Given the description of an element on the screen output the (x, y) to click on. 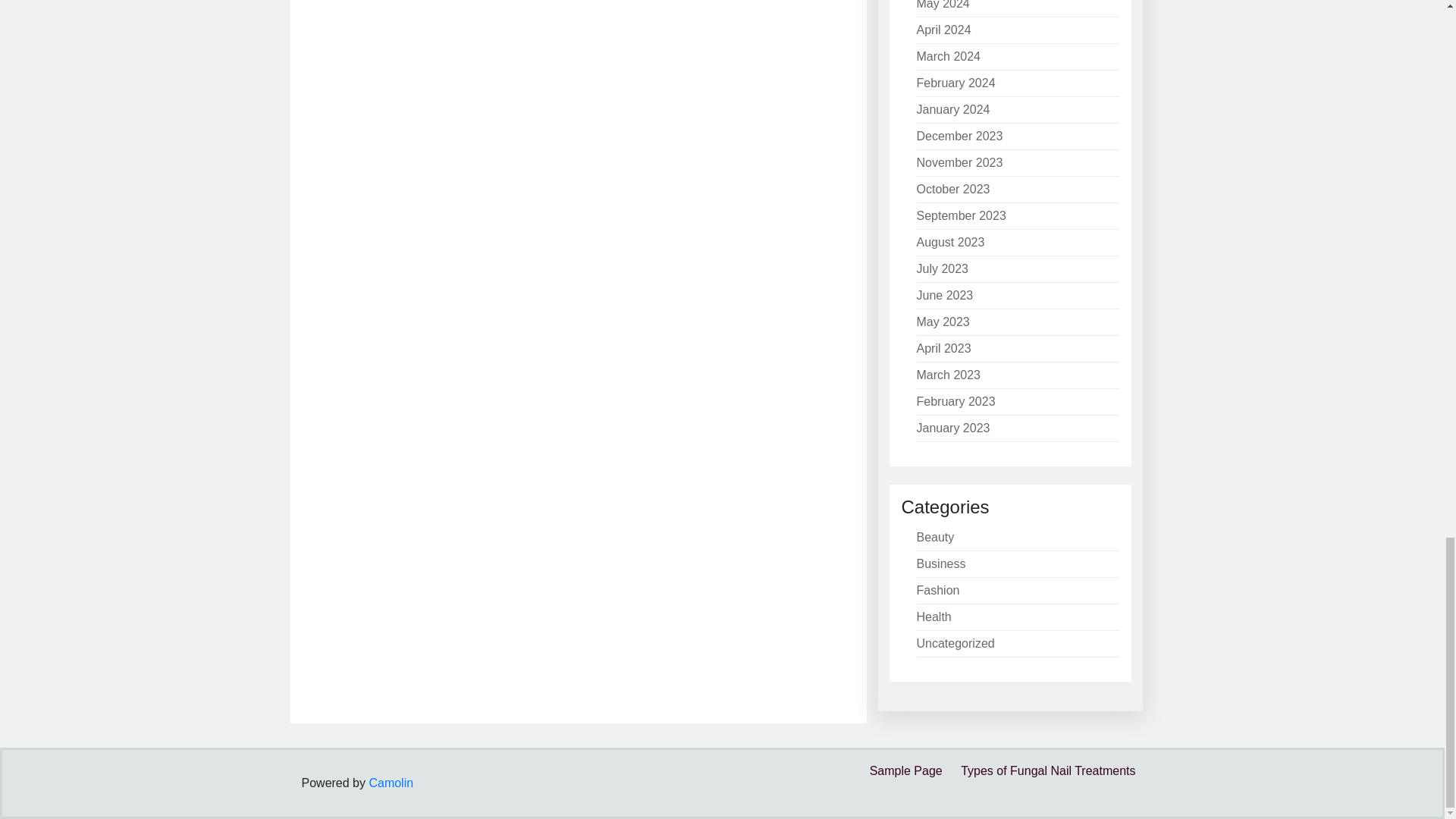
December 2023 (959, 135)
August 2023 (949, 241)
Business (940, 563)
October 2023 (952, 188)
January 2024 (952, 109)
November 2023 (959, 162)
June 2023 (943, 295)
September 2023 (960, 215)
March 2024 (947, 56)
March 2023 (947, 374)
April 2024 (943, 29)
May 2023 (942, 321)
Health (932, 616)
April 2023 (943, 348)
Fashion (937, 590)
